Given the description of an element on the screen output the (x, y) to click on. 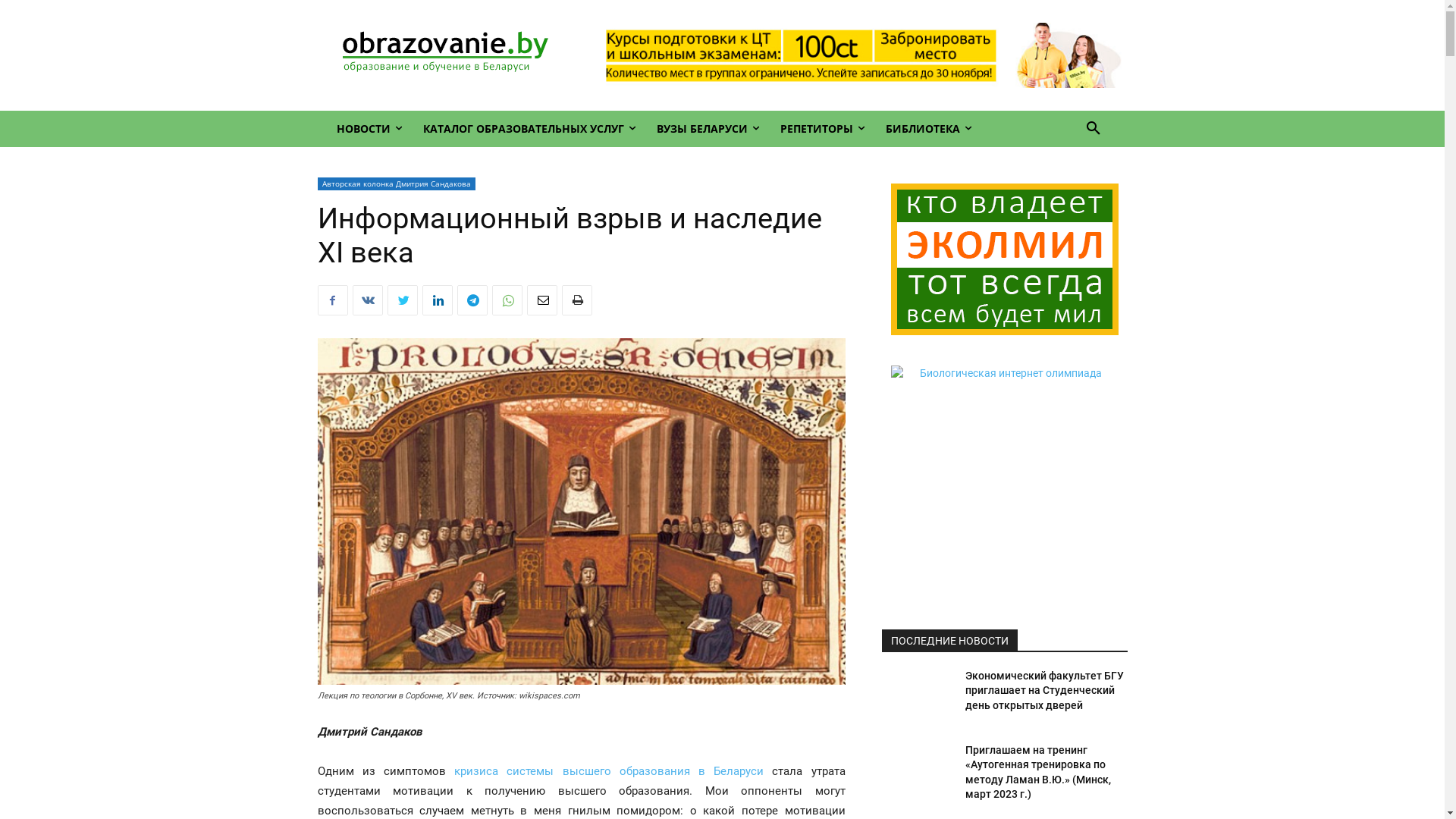
Telegram Element type: hover (471, 300)
Linkedin Element type: hover (436, 300)
Twitter Element type: hover (401, 300)
Email Element type: hover (541, 300)
Facebook Element type: hover (331, 300)
WhatsApp Element type: hover (506, 300)
lection-sorbona Element type: hover (580, 511)
VK Element type: hover (366, 300)
